Given the description of an element on the screen output the (x, y) to click on. 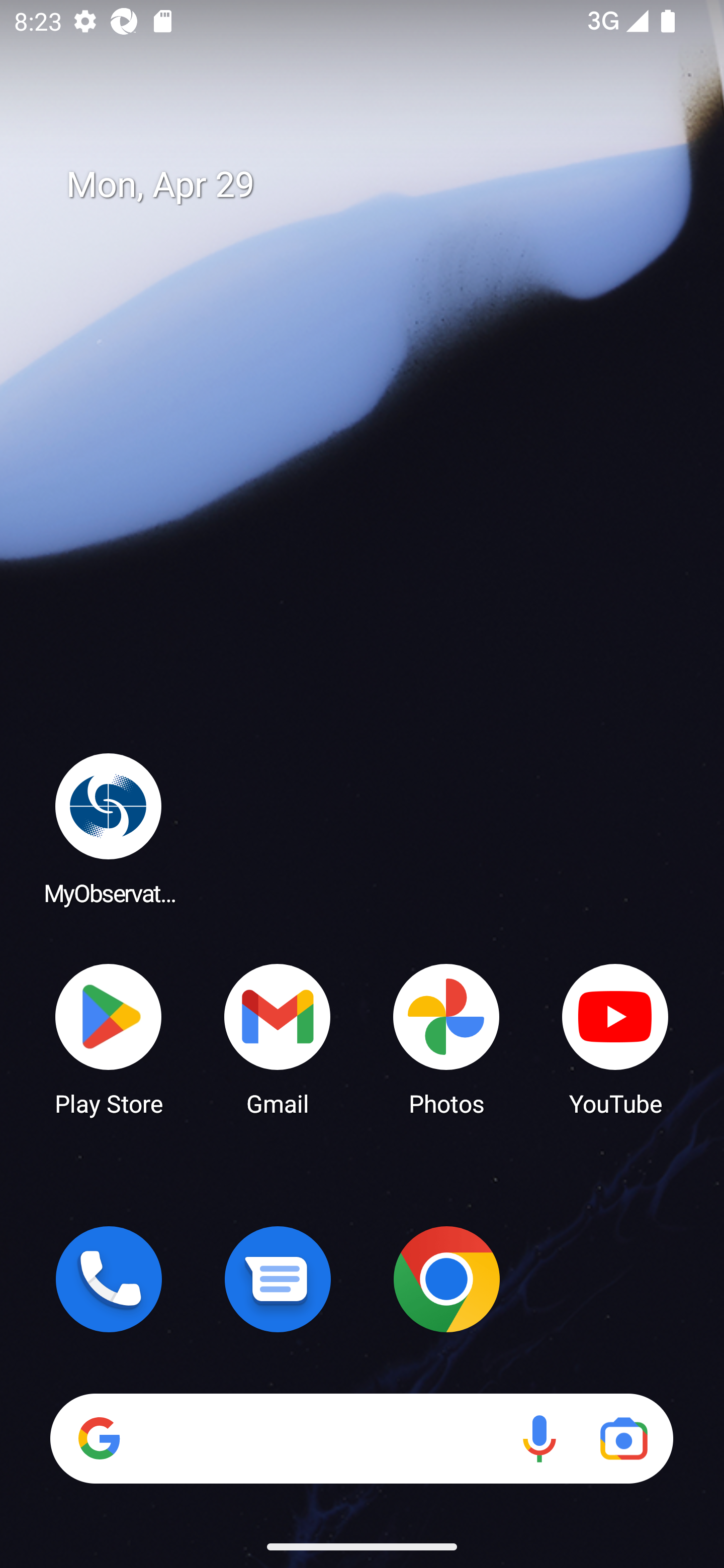
Mon, Apr 29 (375, 184)
MyObservatory (108, 828)
Play Store (108, 1038)
Gmail (277, 1038)
Photos (445, 1038)
YouTube (615, 1038)
Phone (108, 1279)
Messages (277, 1279)
Chrome (446, 1279)
Voice search (539, 1438)
Google Lens (623, 1438)
